Given the description of an element on the screen output the (x, y) to click on. 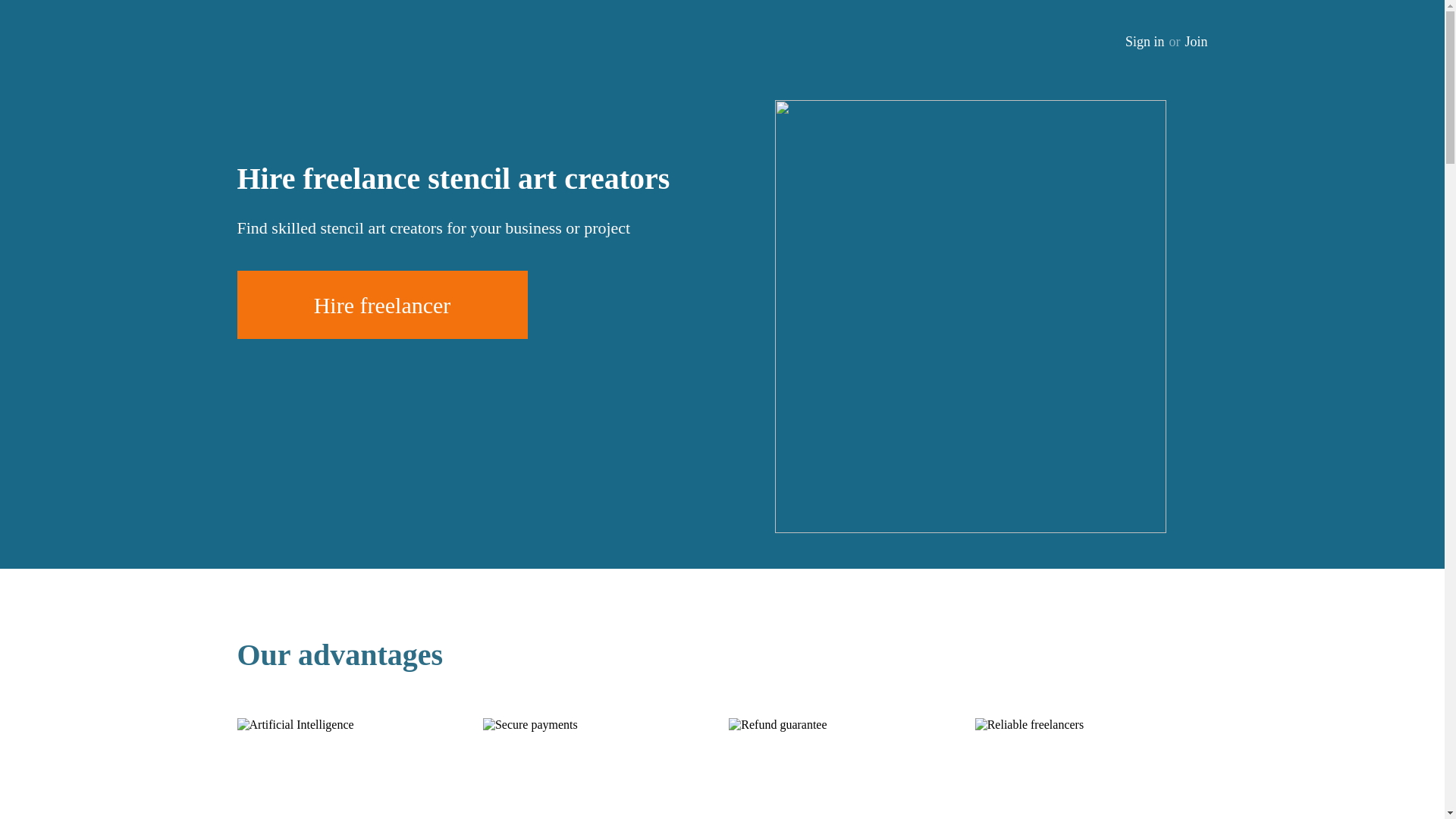
Sign in (1144, 42)
Hire freelancer (381, 305)
Join (1196, 42)
